Given the description of an element on the screen output the (x, y) to click on. 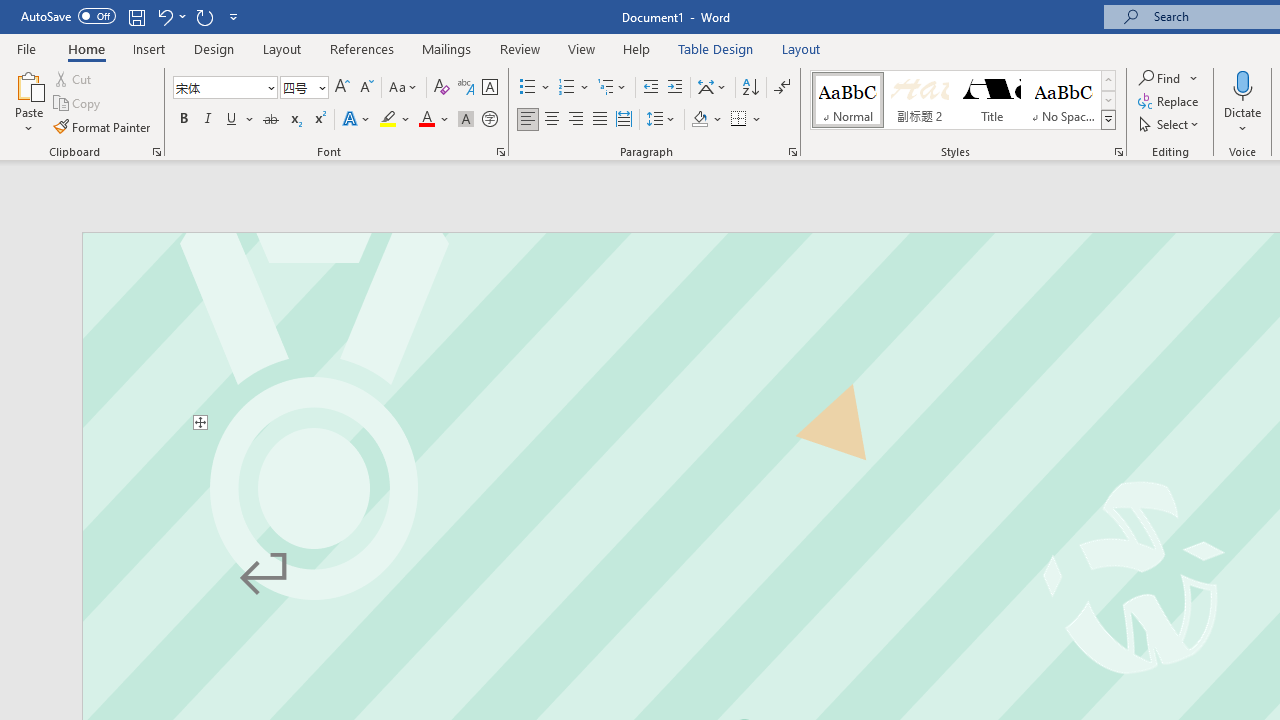
Font Color Red (426, 119)
